Given the description of an element on the screen output the (x, y) to click on. 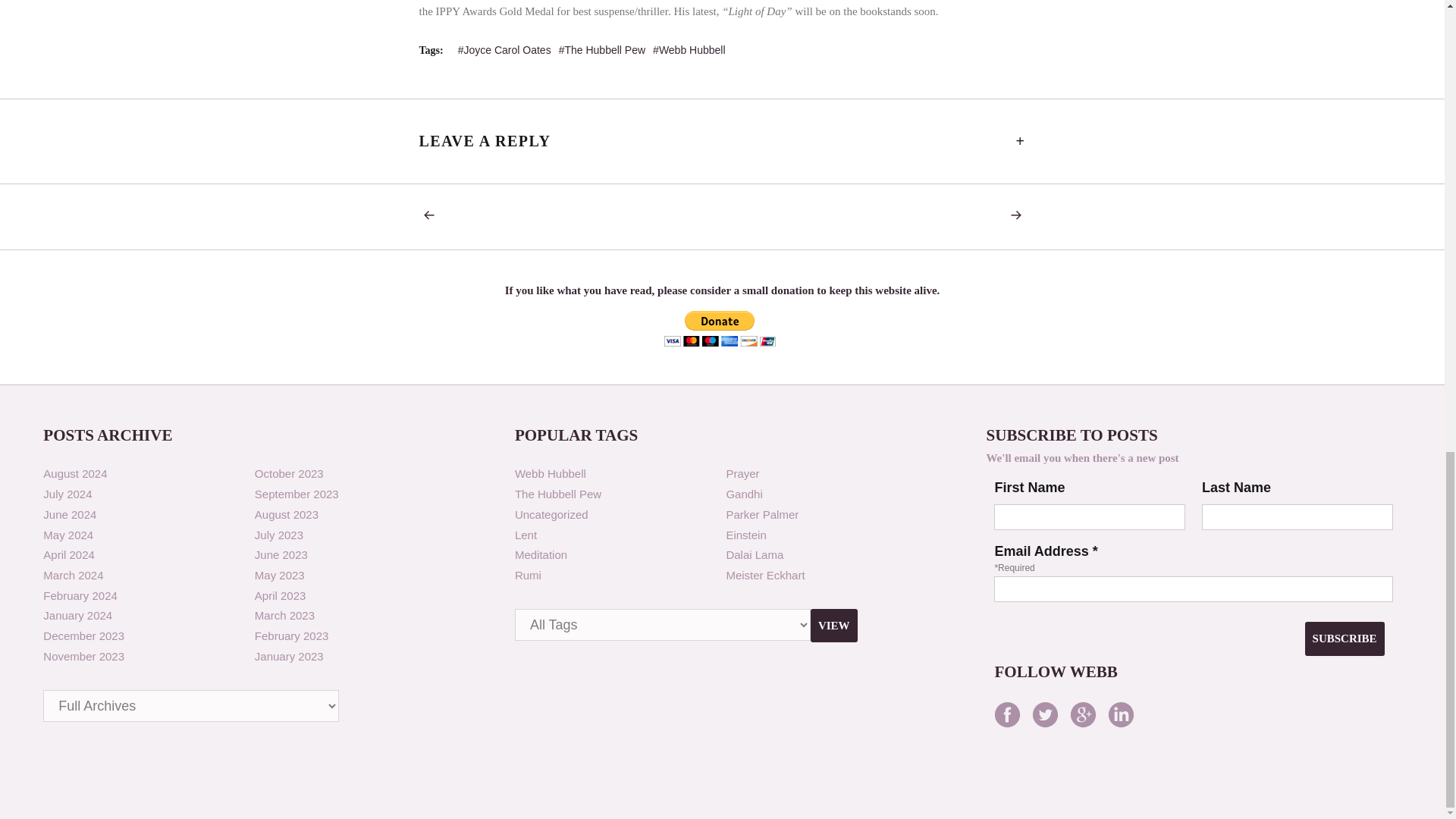
Webb Hubbell (688, 50)
December 2023 (83, 635)
The Hubbell Pew (558, 493)
Dalai Lama Tag (754, 554)
Lent Tag (526, 533)
March 2023 (284, 615)
October 2023 (288, 472)
Gandhi Tag (743, 493)
June 2024 (69, 513)
Meditation Tag (541, 554)
Einstein Tag (745, 533)
Webb Hubbell Tag (550, 472)
Parker Palmer Tag (761, 513)
July 2023 (278, 533)
November 2023 (83, 656)
